Given the description of an element on the screen output the (x, y) to click on. 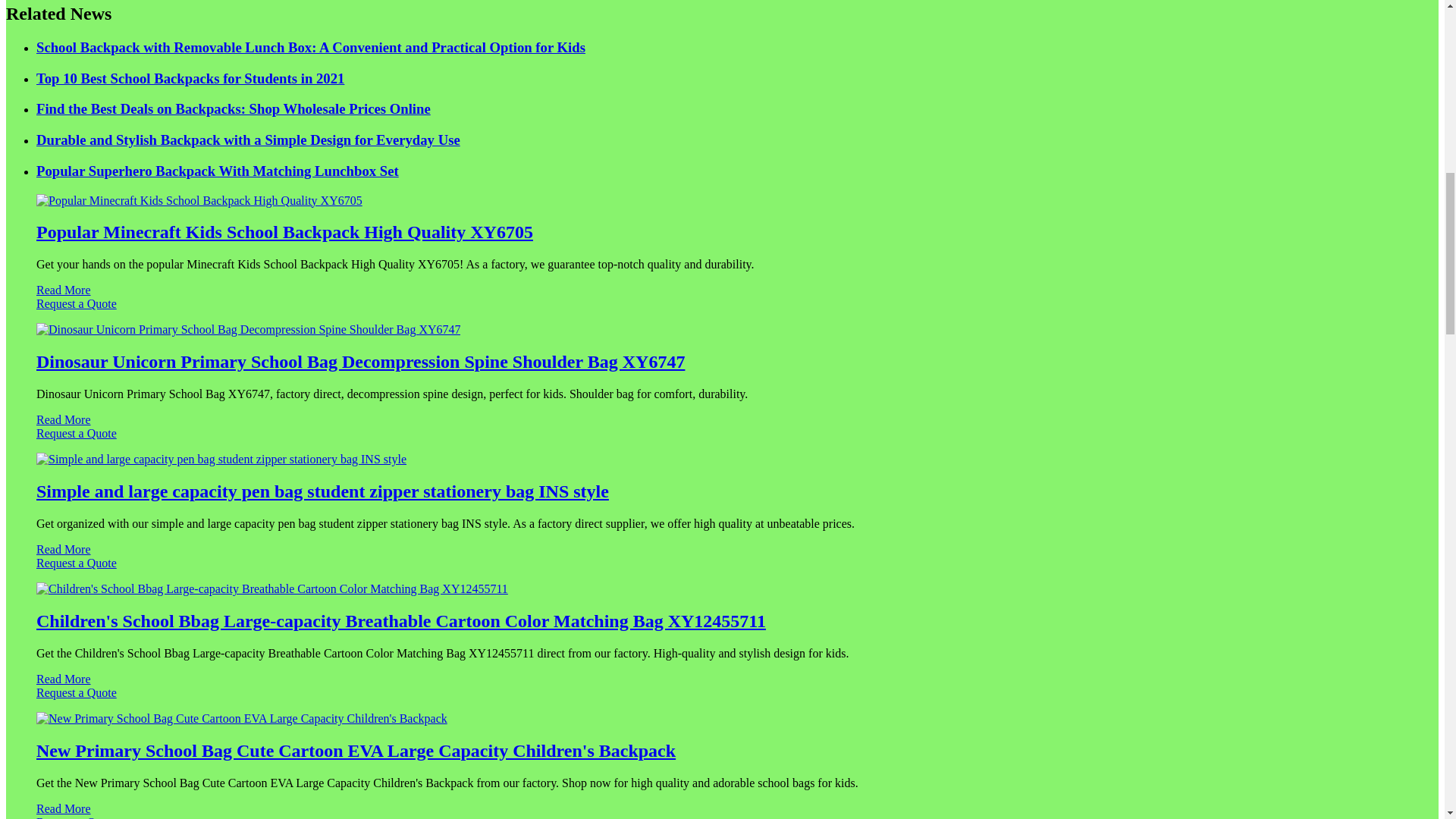
Request a Quote (721, 440)
Popular Minecraft Kids School Backpack High Quality XY6705 (284, 231)
Read More (63, 289)
Read More (63, 549)
Request a Quote (721, 569)
Read More (63, 419)
Request a Quote (721, 310)
